Given the description of an element on the screen output the (x, y) to click on. 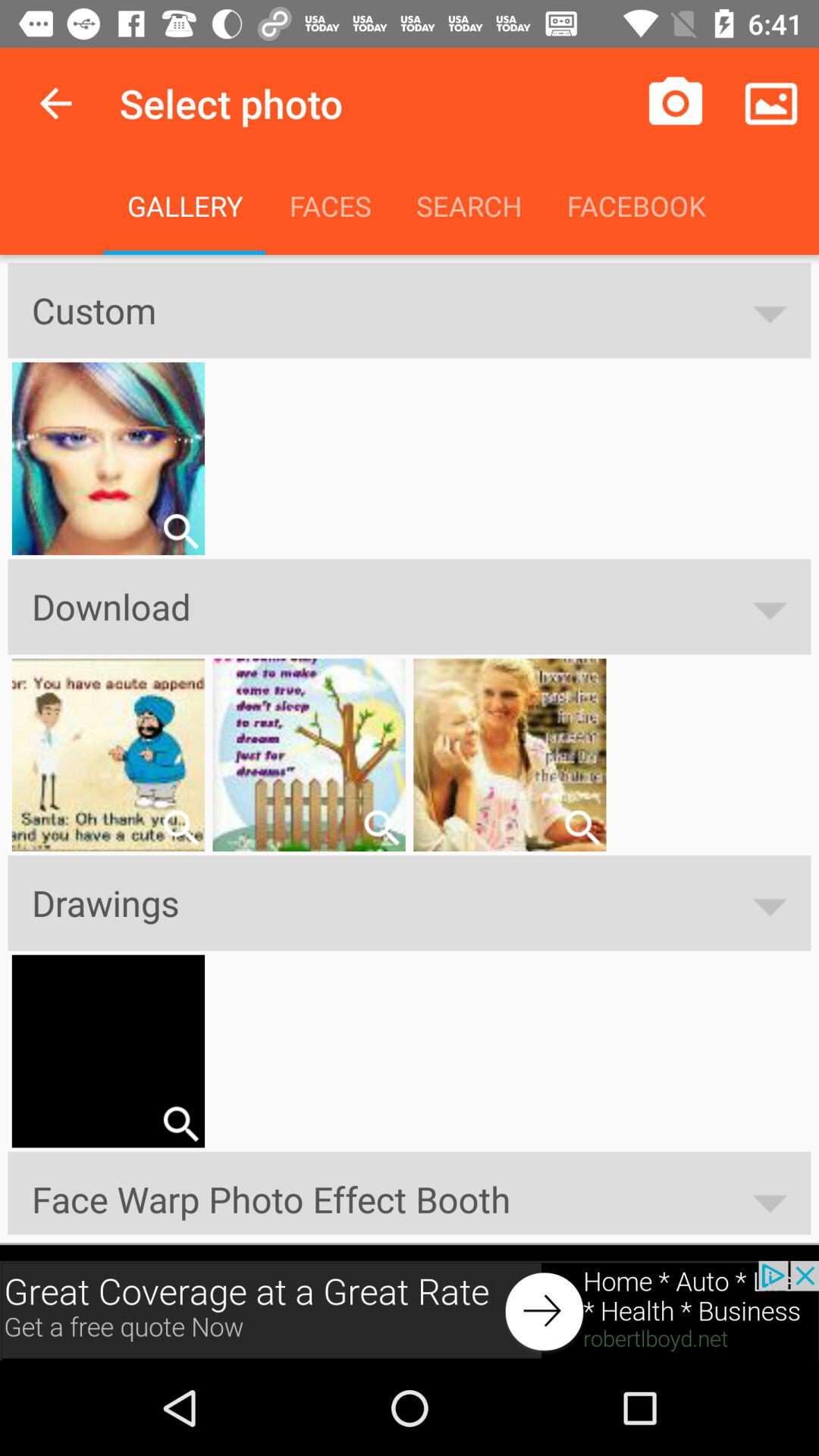
go to the picture and zoom (180, 827)
